Given the description of an element on the screen output the (x, y) to click on. 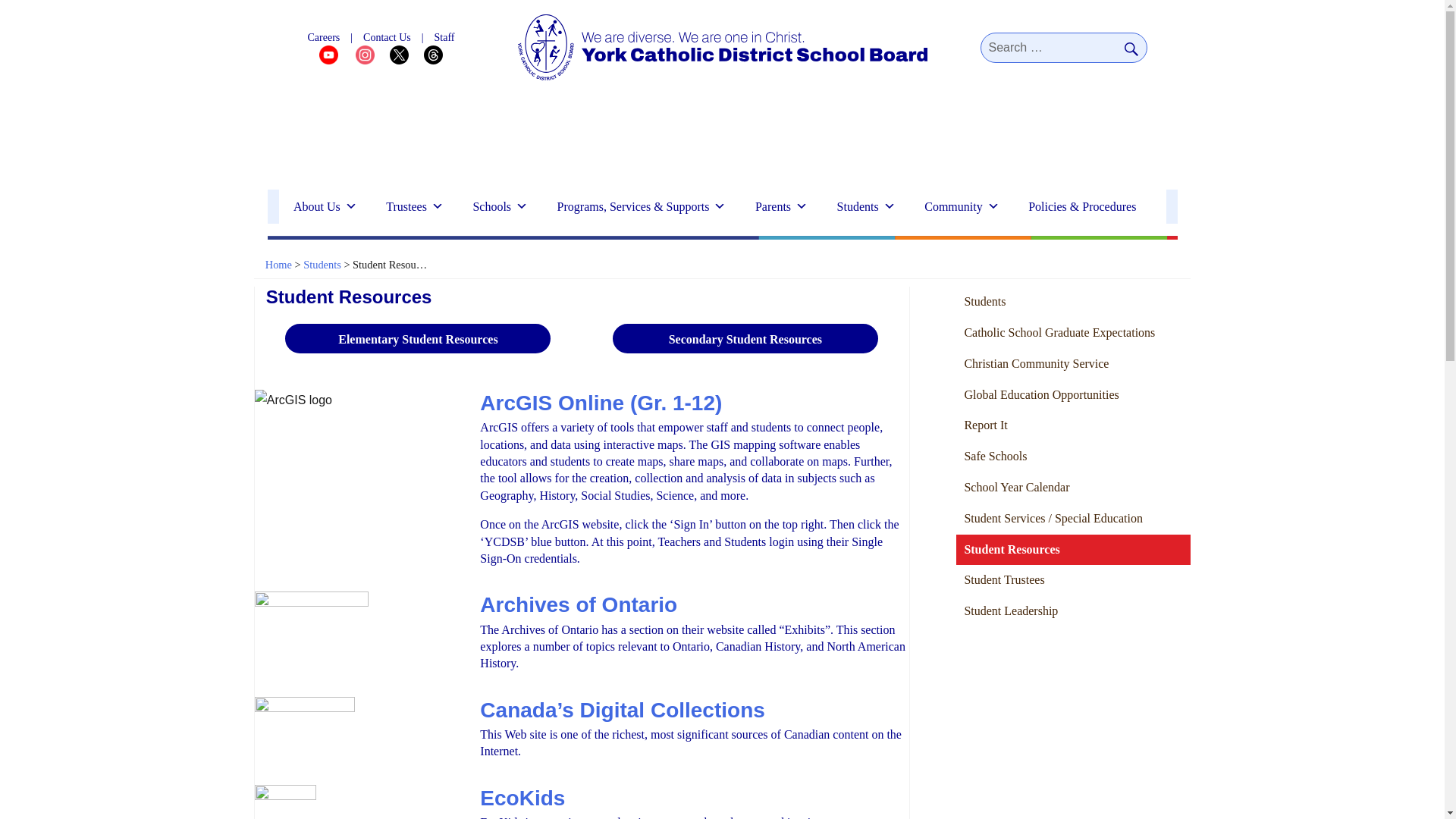
Go to Students. (321, 264)
Careers (323, 37)
Trustees (414, 206)
Archives of Ontario (578, 604)
About Us (325, 206)
SEARCH (1131, 47)
Staff (443, 37)
Elementary Student Resources (417, 337)
Contact Us (386, 37)
EcoKids (522, 797)
